Given the description of an element on the screen output the (x, y) to click on. 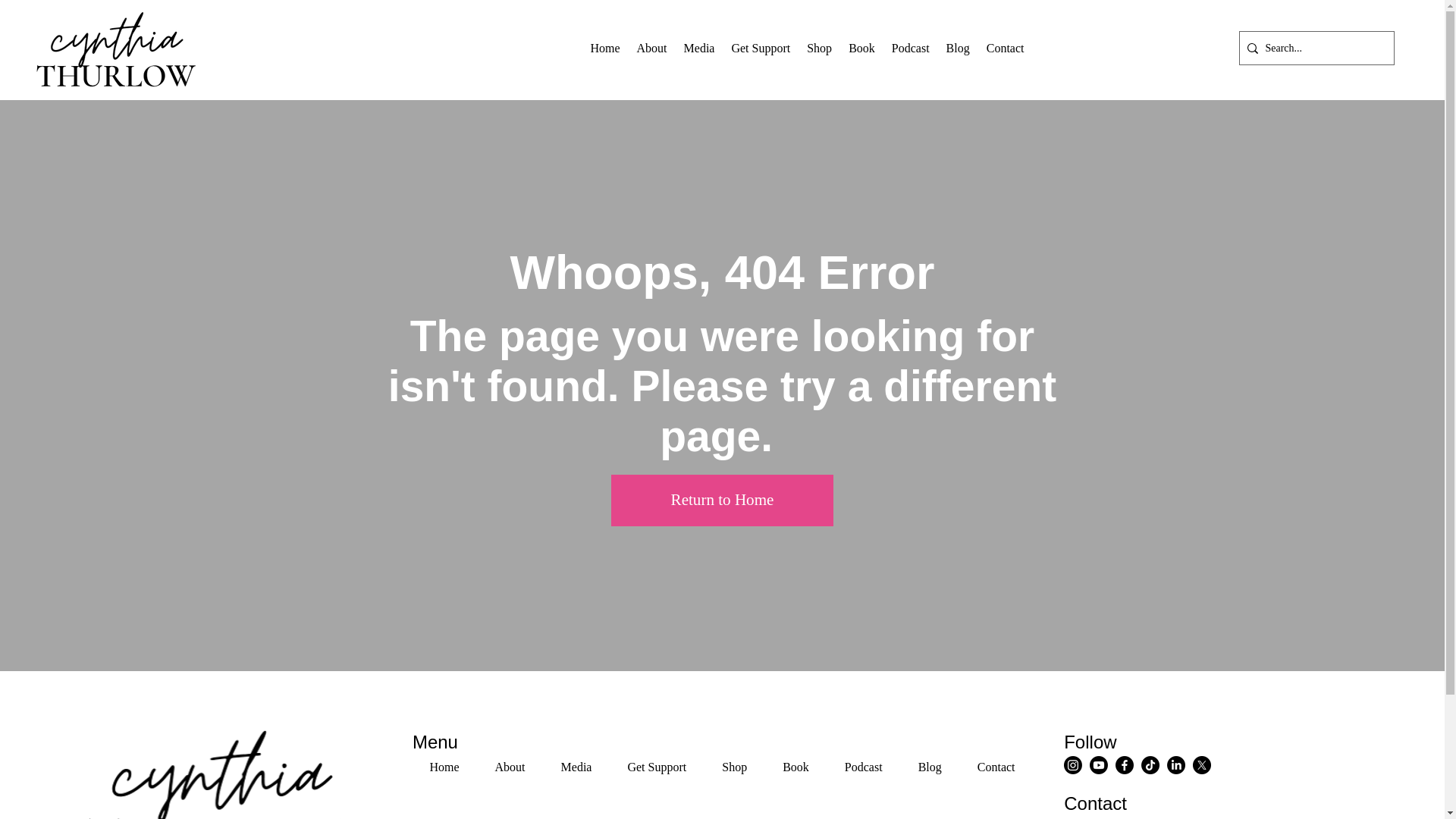
Podcast (910, 48)
Contact (1005, 48)
Shop (722, 766)
About (819, 48)
Get Support (882, 48)
Blog (651, 48)
Media (760, 48)
Media (957, 48)
